Given the description of an element on the screen output the (x, y) to click on. 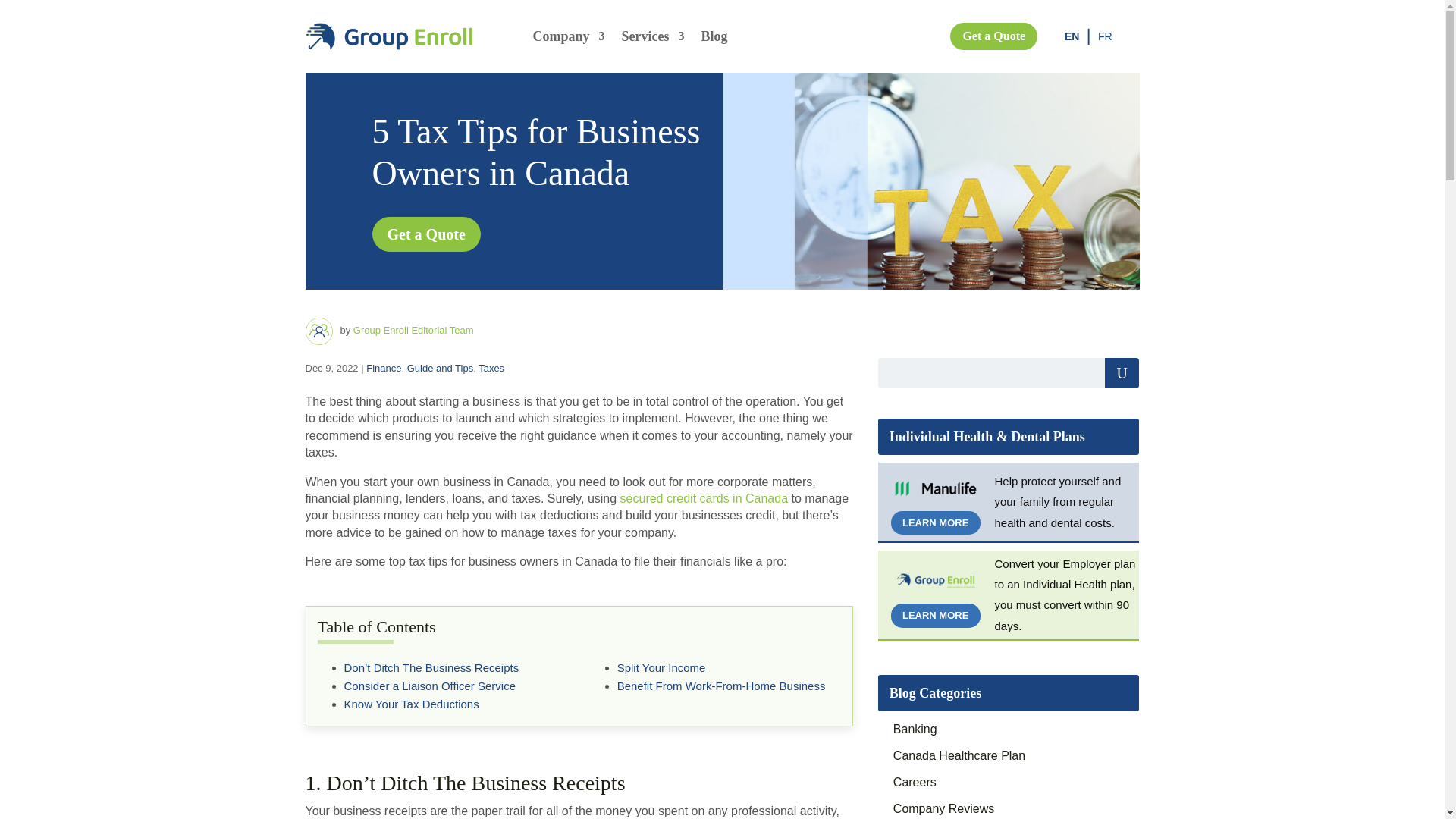
Get a Quote (993, 36)
English (1071, 36)
Services (652, 36)
EN (1071, 36)
FR (1104, 36)
French (1104, 36)
Company (568, 36)
